Given the description of an element on the screen output the (x, y) to click on. 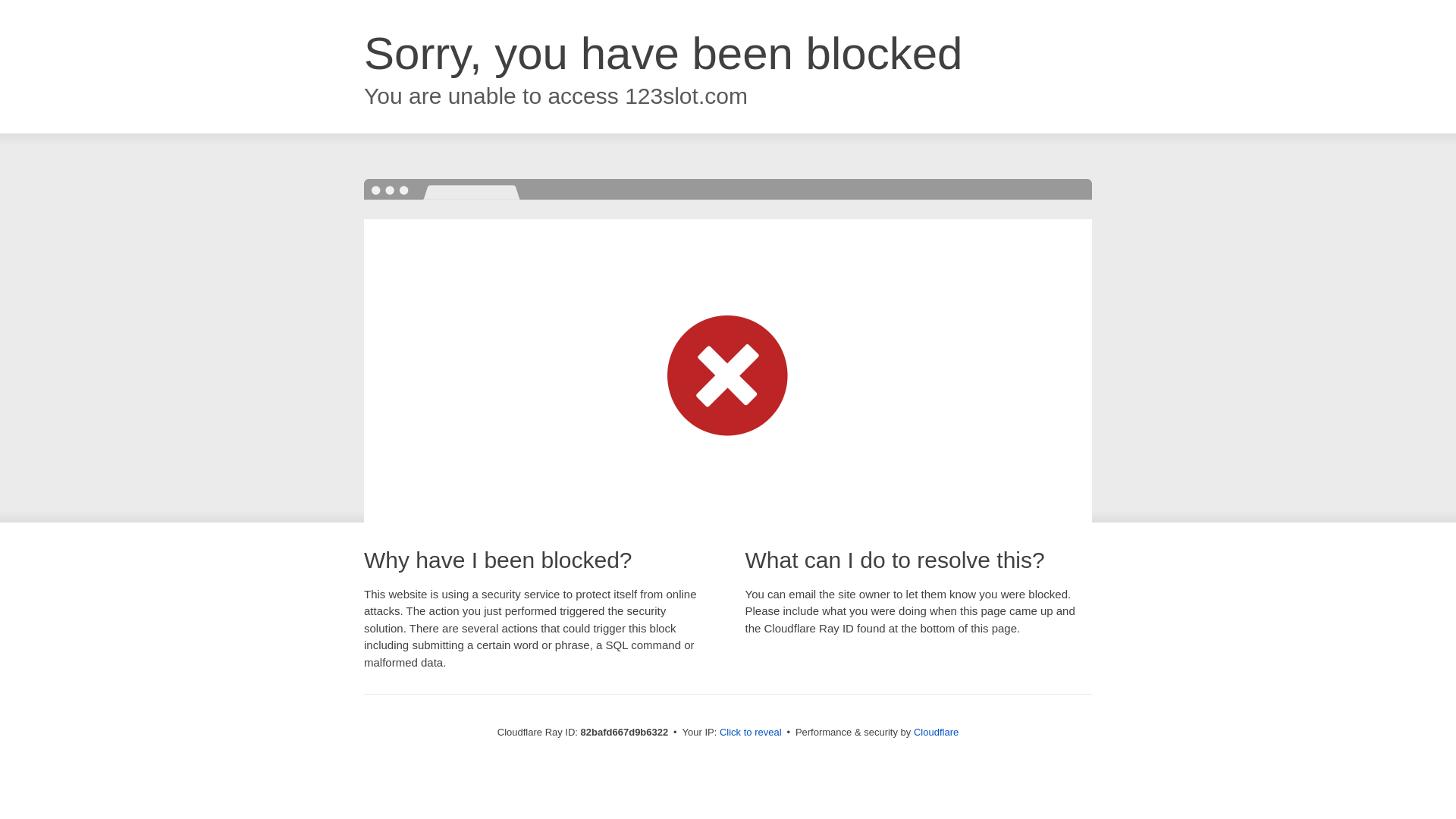
Click to reveal Element type: text (750, 732)
Cloudflare Element type: text (935, 731)
